Given the description of an element on the screen output the (x, y) to click on. 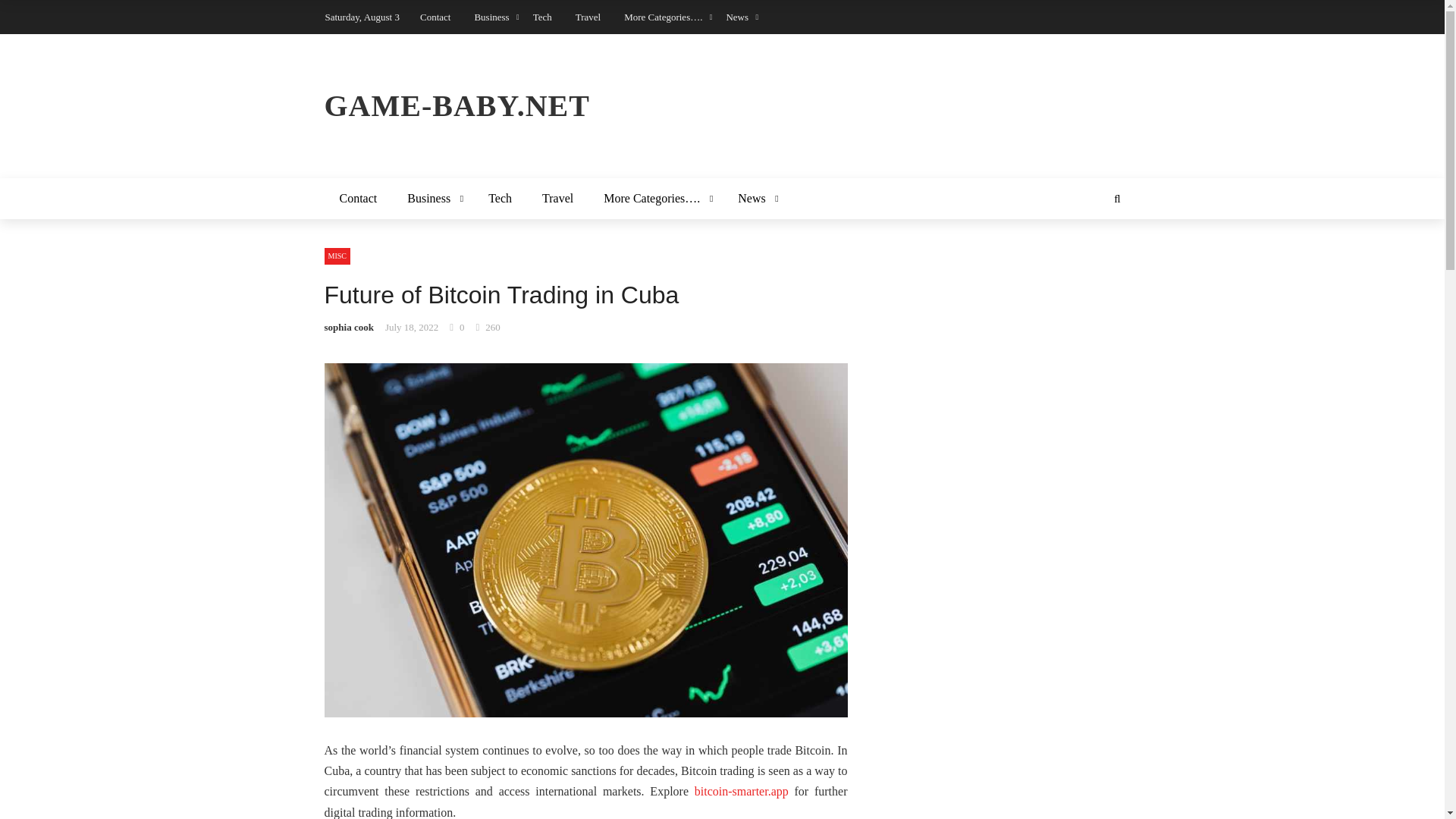
News (736, 16)
Tech (541, 16)
Tech (500, 198)
Business (432, 198)
Travel (557, 198)
GAME-BABY.NET (722, 106)
Travel (587, 16)
Contact (358, 198)
News (754, 198)
Contact (434, 16)
